Given the description of an element on the screen output the (x, y) to click on. 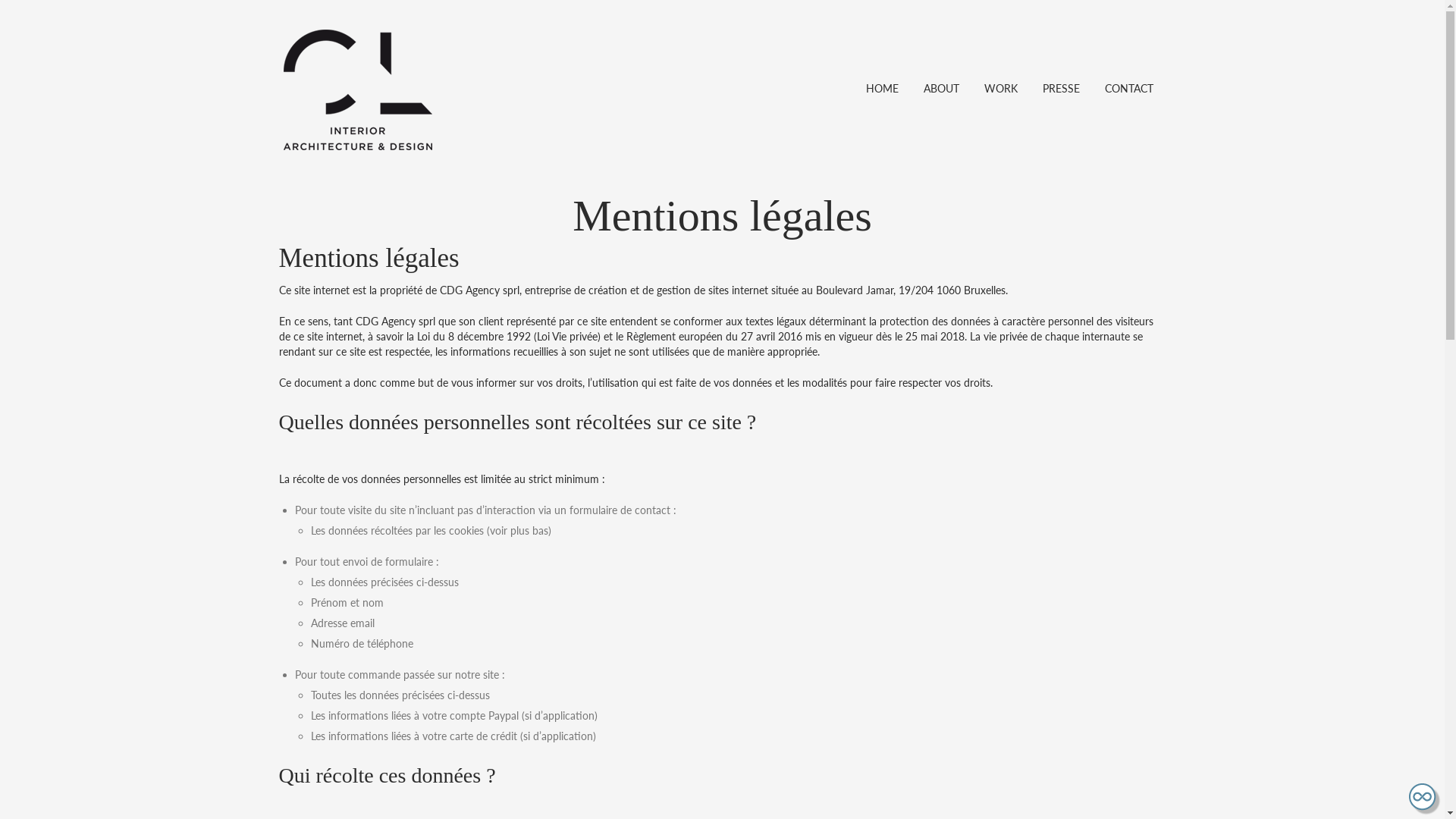
PRESSE Element type: text (1060, 84)
HOME Element type: text (881, 84)
CONTACT Element type: text (1128, 84)
WORK Element type: text (1000, 84)
ABOUT Element type: text (941, 84)
